Given the description of an element on the screen output the (x, y) to click on. 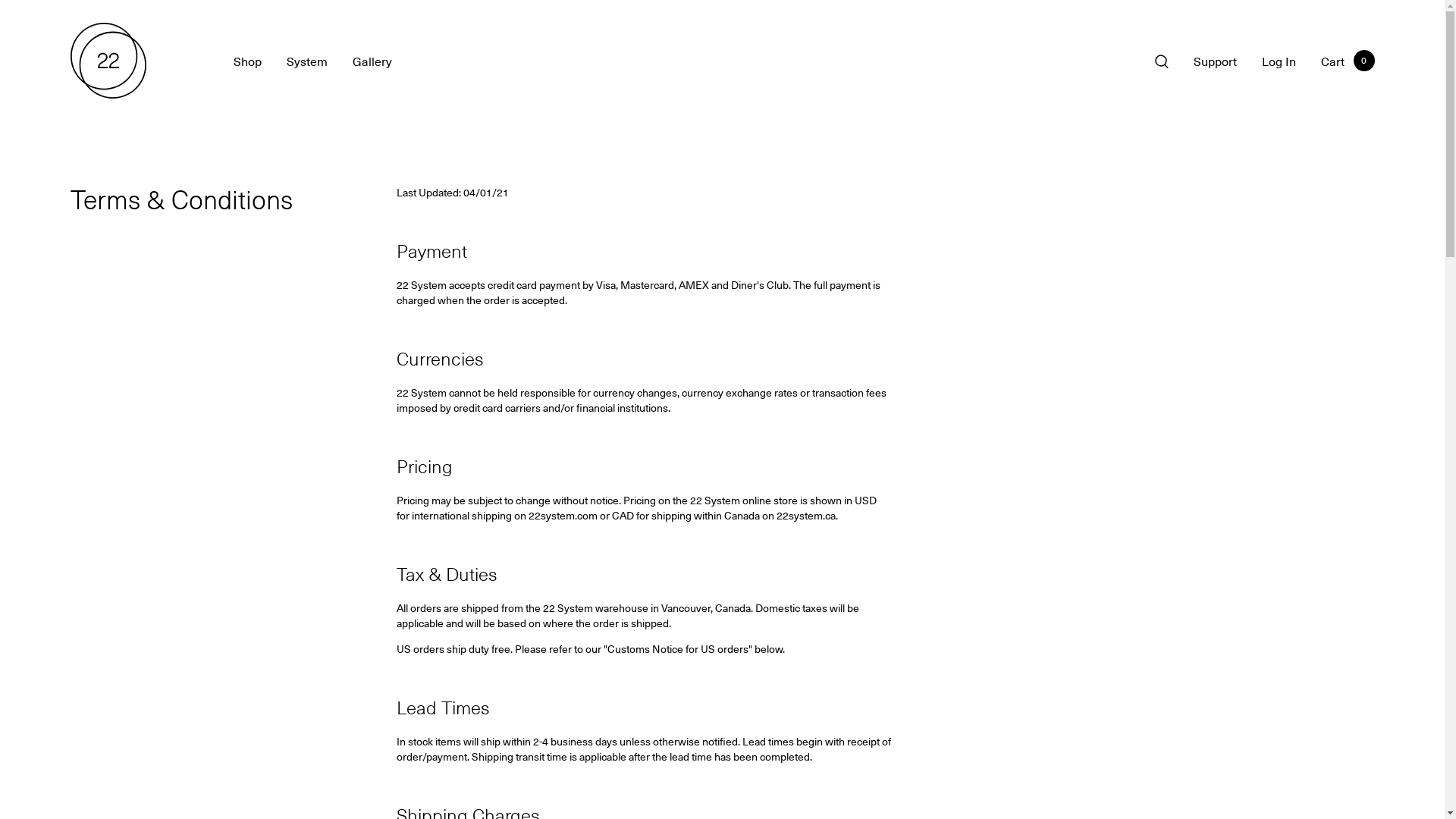
Cart Element type: text (1332, 59)
Log In Element type: text (1278, 59)
Gallery Element type: text (371, 59)
0 Element type: text (1363, 60)
Support Element type: text (1214, 59)
System Element type: text (306, 59)
Shop Element type: text (247, 59)
